Given the description of an element on the screen output the (x, y) to click on. 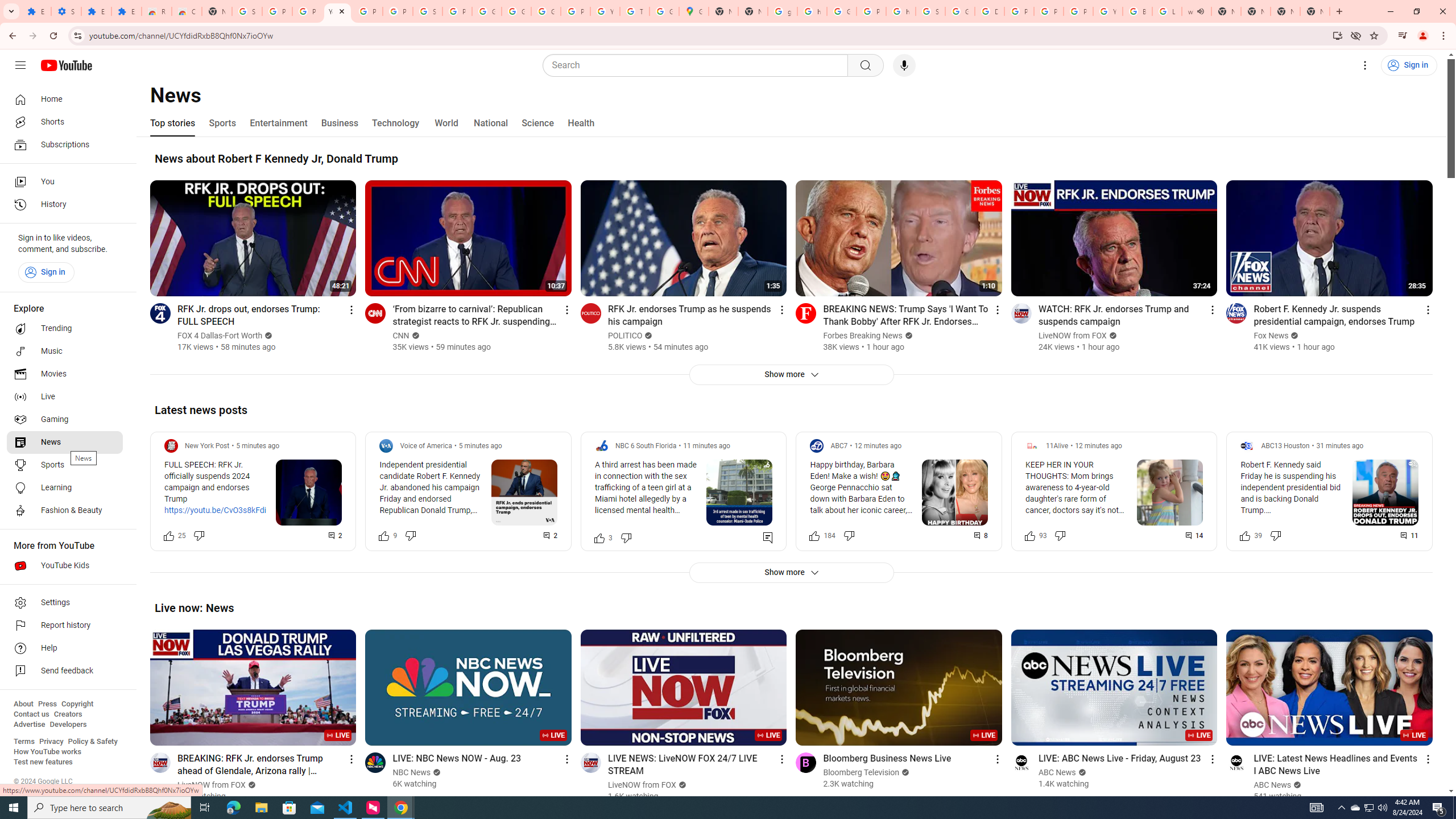
Science (537, 122)
ABC News (1272, 784)
Sign in - Google Accounts (930, 11)
ABC7 (838, 445)
Reviews: Helix Fruit Jump Arcade Game (156, 11)
ABC13 Houston (1285, 445)
Bloomberg Television (860, 772)
